Given the description of an element on the screen output the (x, y) to click on. 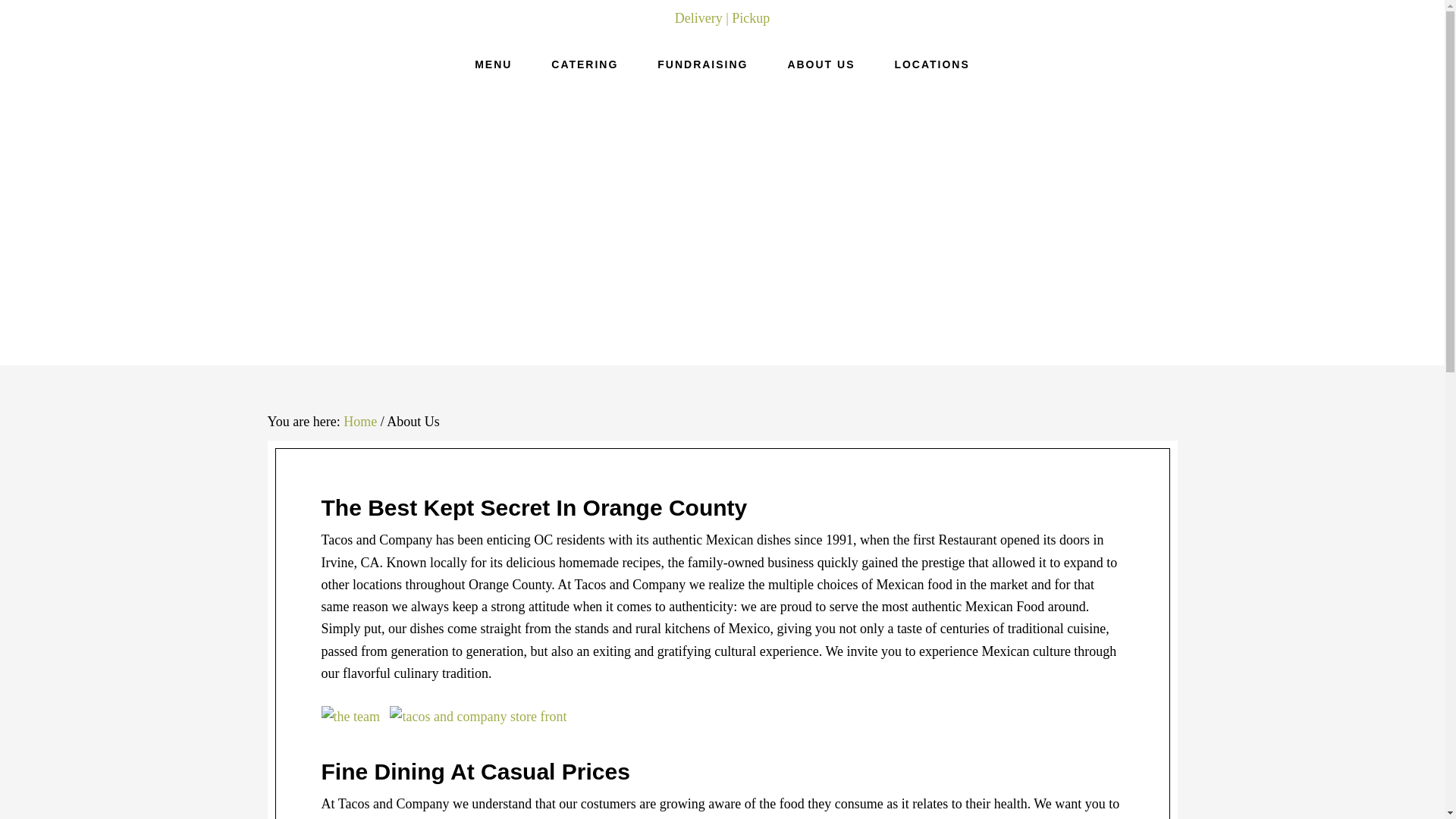
Pickup (751, 17)
CATERING (584, 64)
Home (360, 421)
ABOUT US (820, 64)
TACOS AND COMPANY (722, 228)
MENU (493, 64)
FUNDRAISING (702, 64)
LOCATIONS (931, 64)
